Given the description of an element on the screen output the (x, y) to click on. 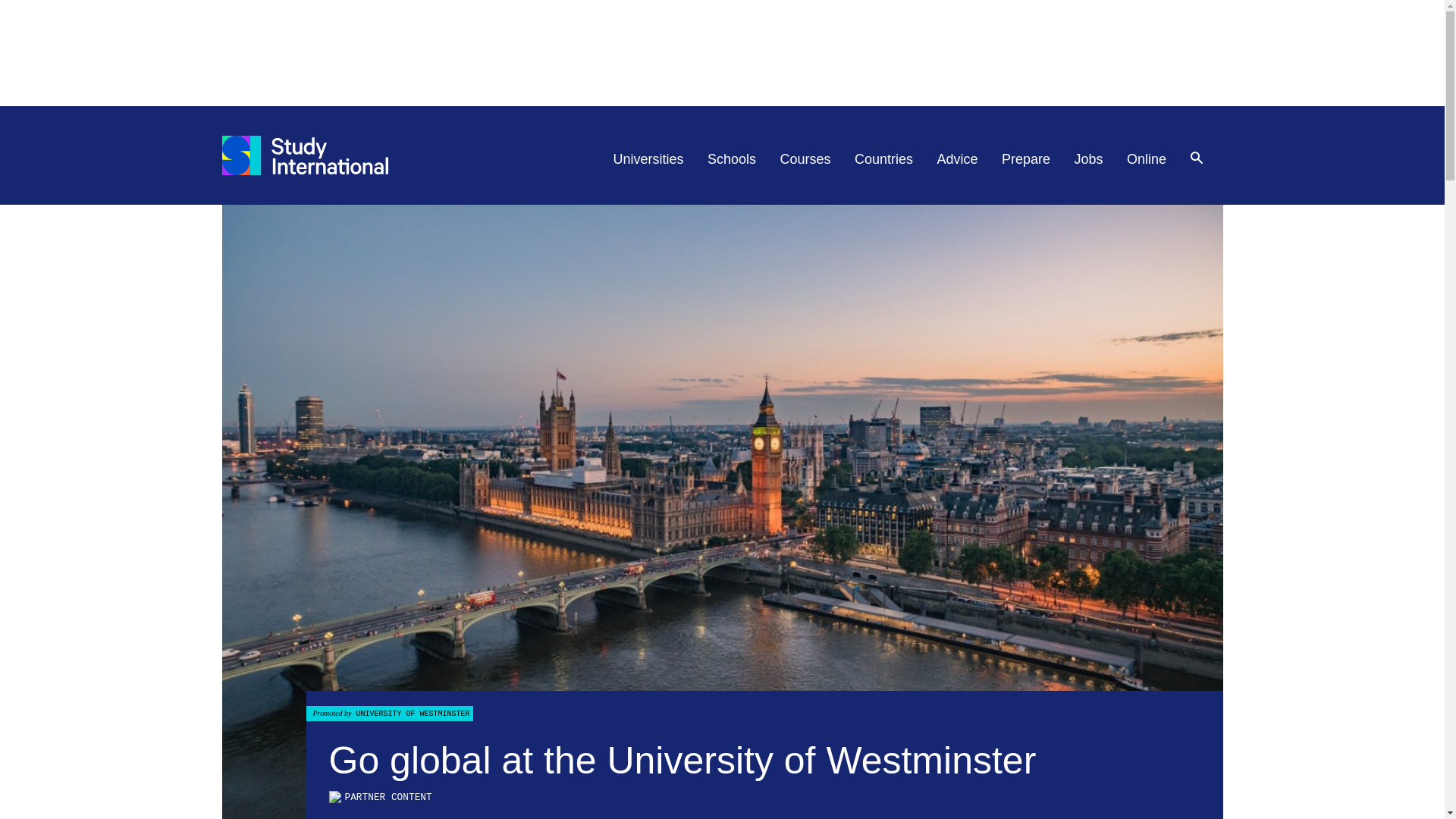
Advice (957, 159)
Schools (731, 159)
Courses (805, 159)
Prepare (1025, 159)
Universities (648, 159)
Countries (883, 159)
Jobs (1088, 159)
Online (1146, 159)
